Given the description of an element on the screen output the (x, y) to click on. 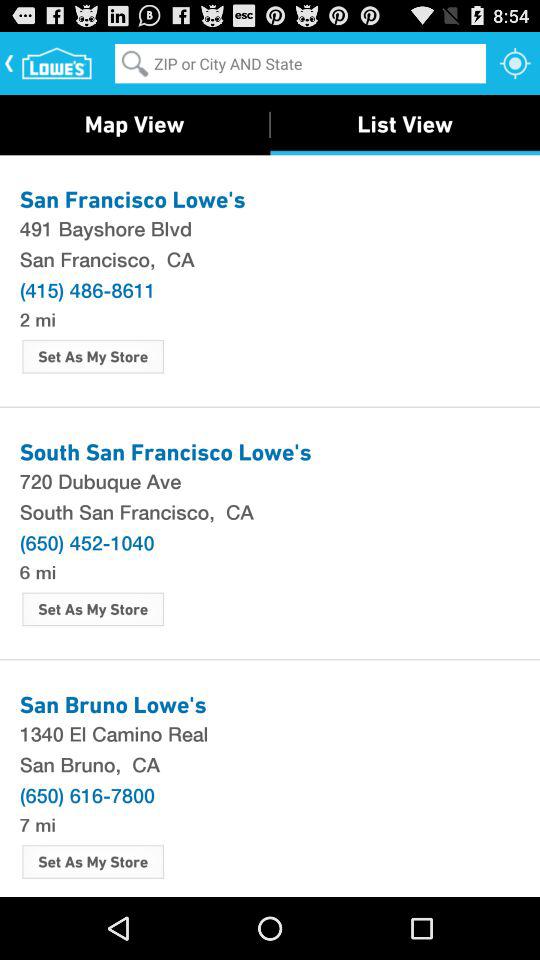
open 7 mi item (37, 824)
